Given the description of an element on the screen output the (x, y) to click on. 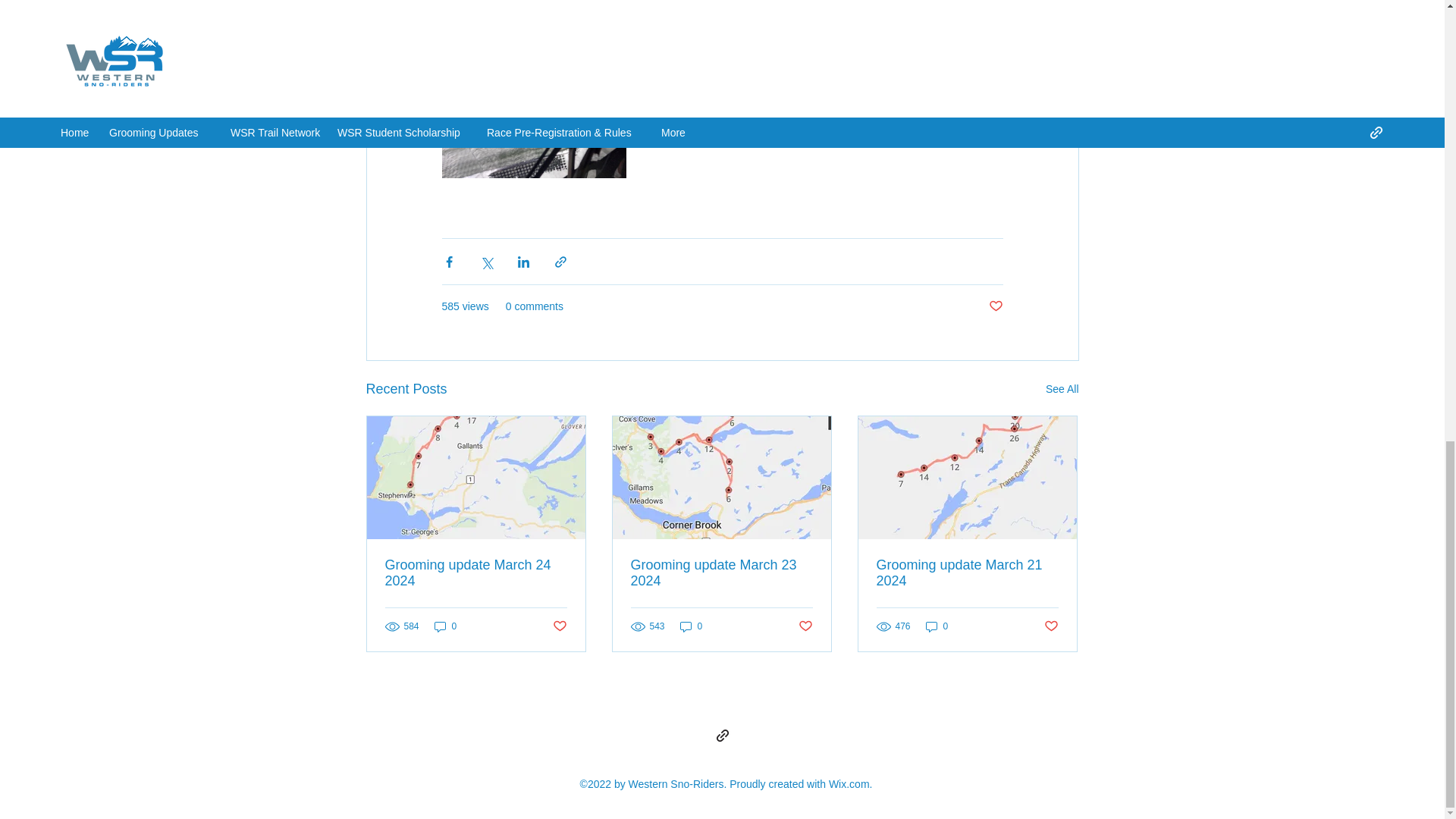
See All (1061, 389)
0 (445, 626)
Grooming update March 24 2024 (476, 572)
Grooming update March 23 2024 (721, 572)
Post not marked as liked (1050, 626)
0 (691, 626)
Post not marked as liked (558, 626)
0 (937, 626)
Post not marked as liked (804, 626)
Grooming update March 21 2024 (967, 572)
